Given the description of an element on the screen output the (x, y) to click on. 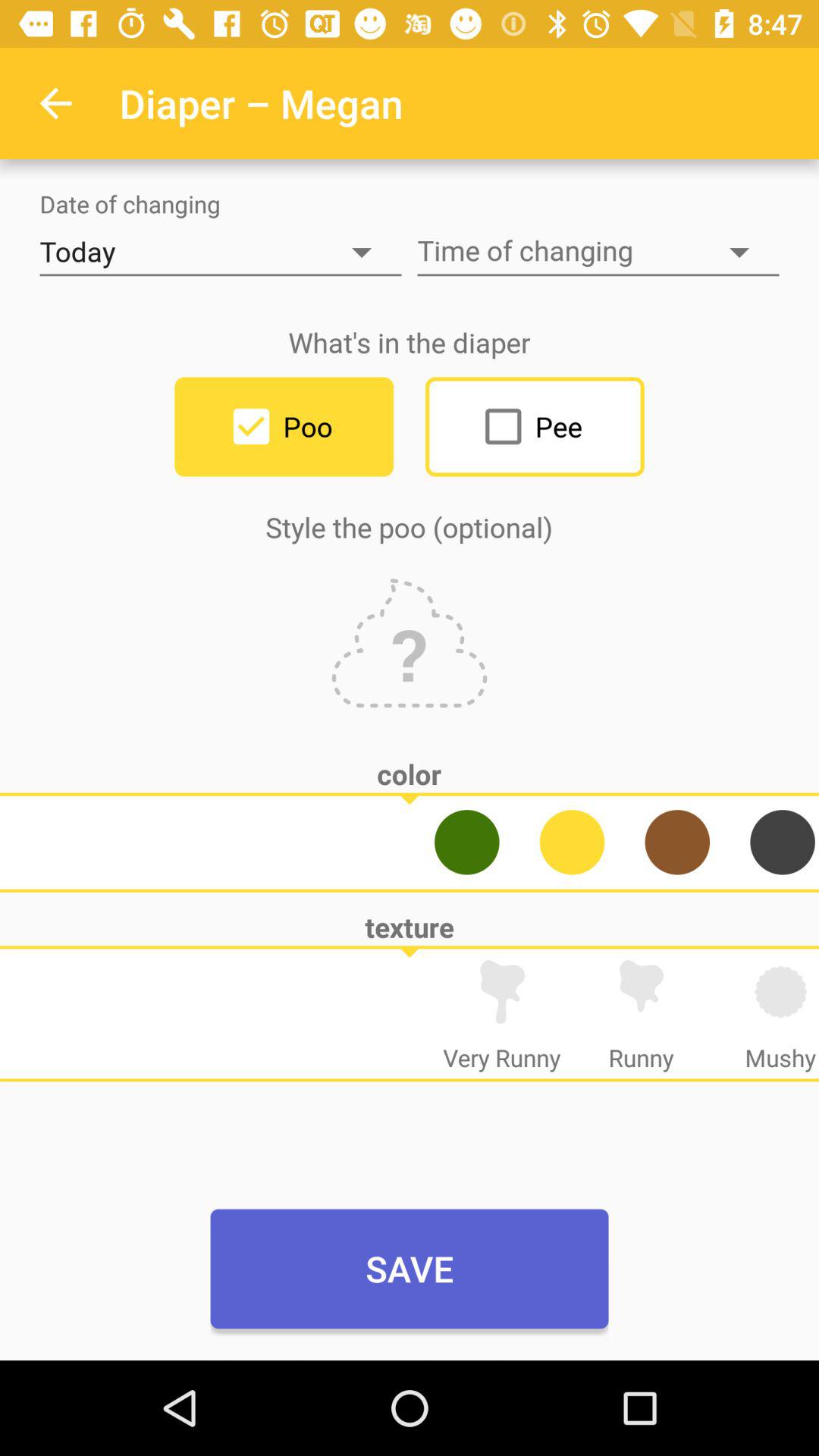
select the diaper changing time (598, 251)
